Given the description of an element on the screen output the (x, y) to click on. 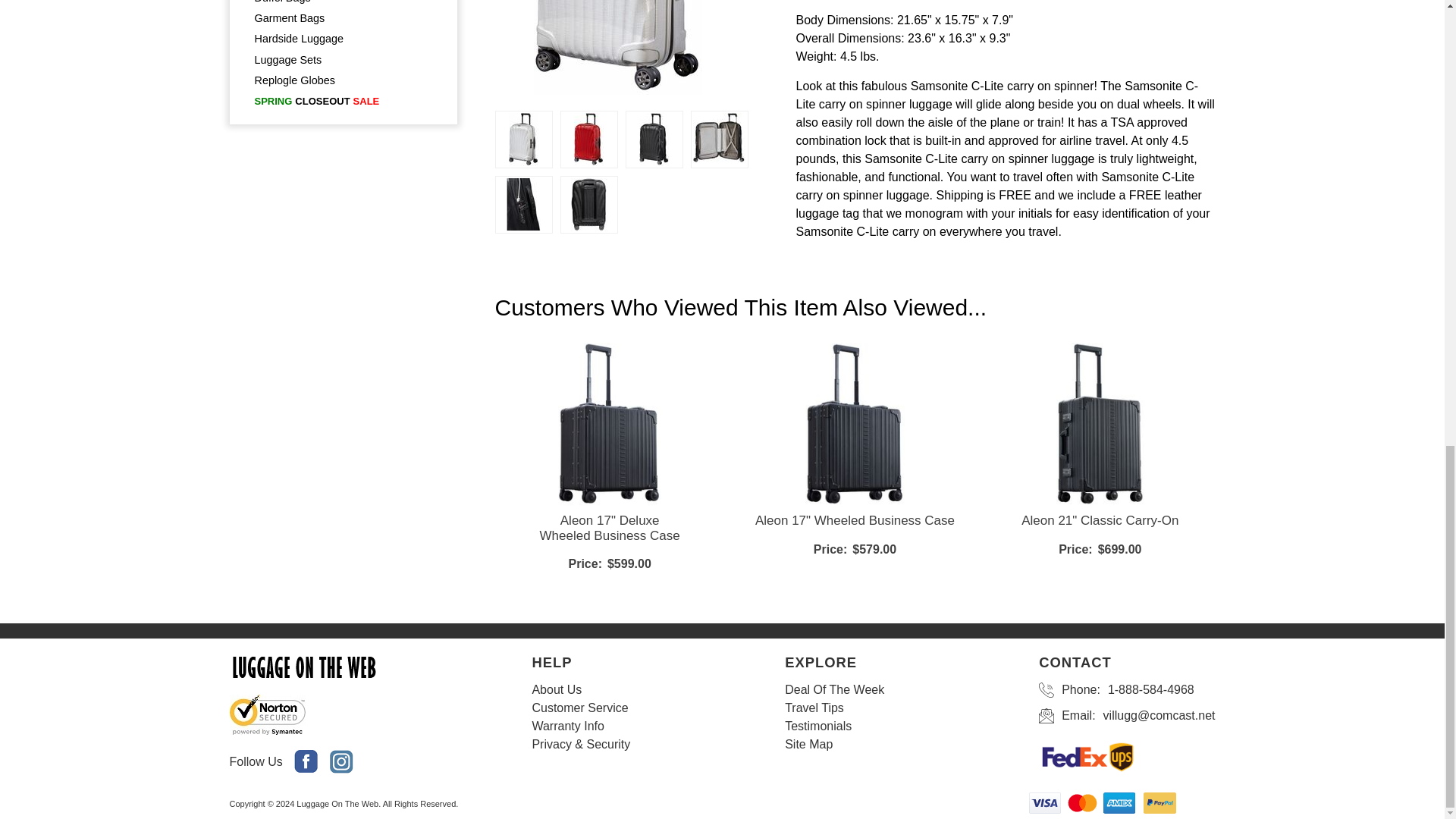
Aleon 17 Deluxe Wheeled Business Case (609, 527)
Aleon 21 Classic Carry-On (1099, 520)
Aleon 17" Deluxe Wheeled Business Case (609, 527)
Aleon 17" Wheeled Business Case (855, 520)
Aleon 17 Wheeled Business Case (855, 520)
Aleon 21" Classic Carry-On (1099, 520)
